Given the description of an element on the screen output the (x, y) to click on. 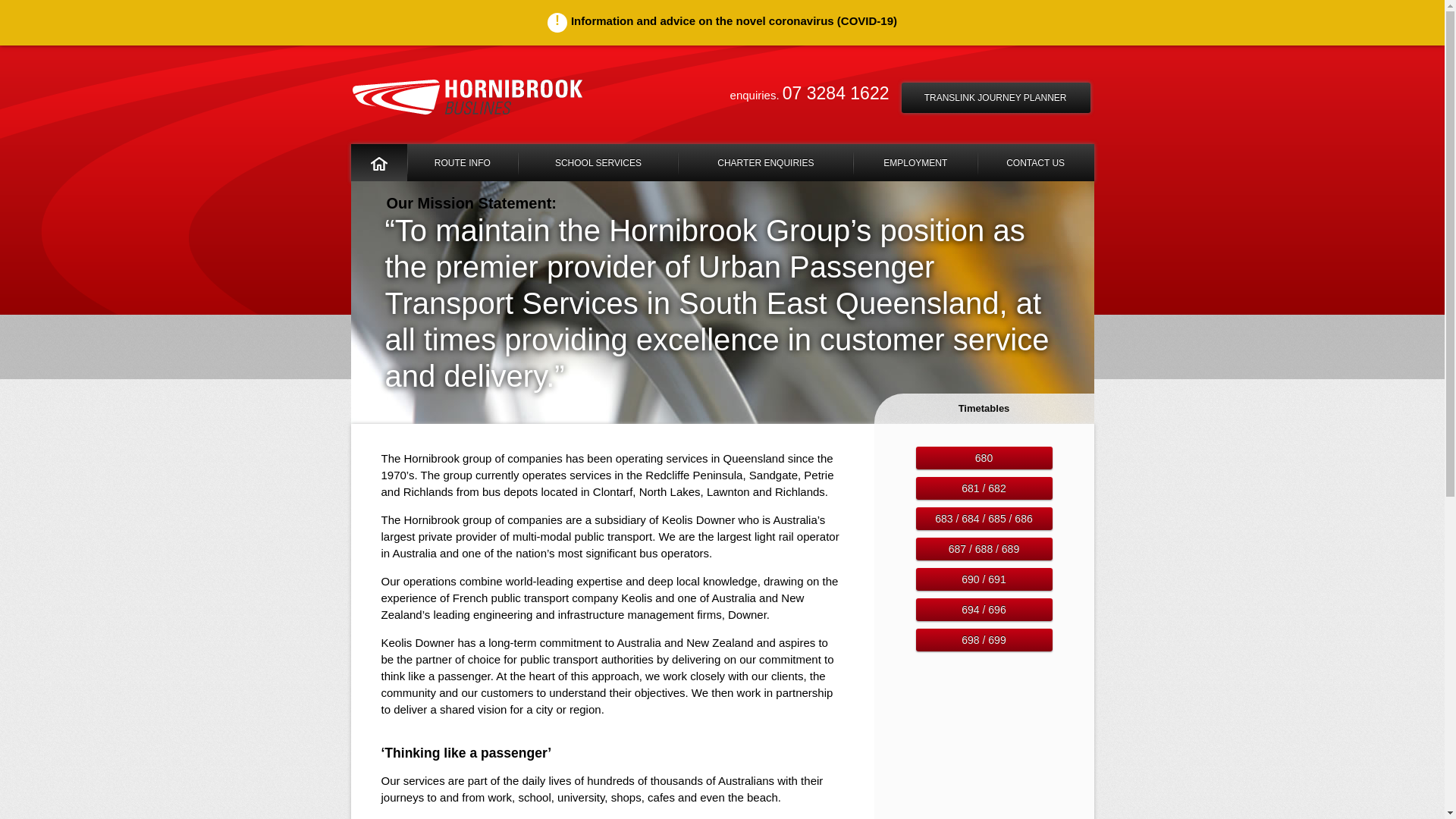
ROUTE INFO Element type: text (461, 163)
TRANSLINK JOURNEY PLANNER Element type: text (995, 97)
CHARTER ENQUIRIES Element type: text (765, 163)
681 / 682 Element type: text (984, 487)
EMPLOYMENT Element type: text (915, 163)
683 / 684 / 685 / 686 Element type: text (984, 518)
690 / 691 Element type: text (984, 578)
694 / 696 Element type: text (984, 609)
680 Element type: text (984, 457)
Home Element type: hover (378, 163)
698 / 699 Element type: text (984, 639)
CONTACT US Element type: text (1035, 163)
Information and advice on the novel coronavirus (COVID-19) Element type: text (722, 22)
687 / 688 / 689 Element type: text (984, 548)
SCHOOL SERVICES Element type: text (597, 163)
Home Element type: hover (466, 96)
